Given the description of an element on the screen output the (x, y) to click on. 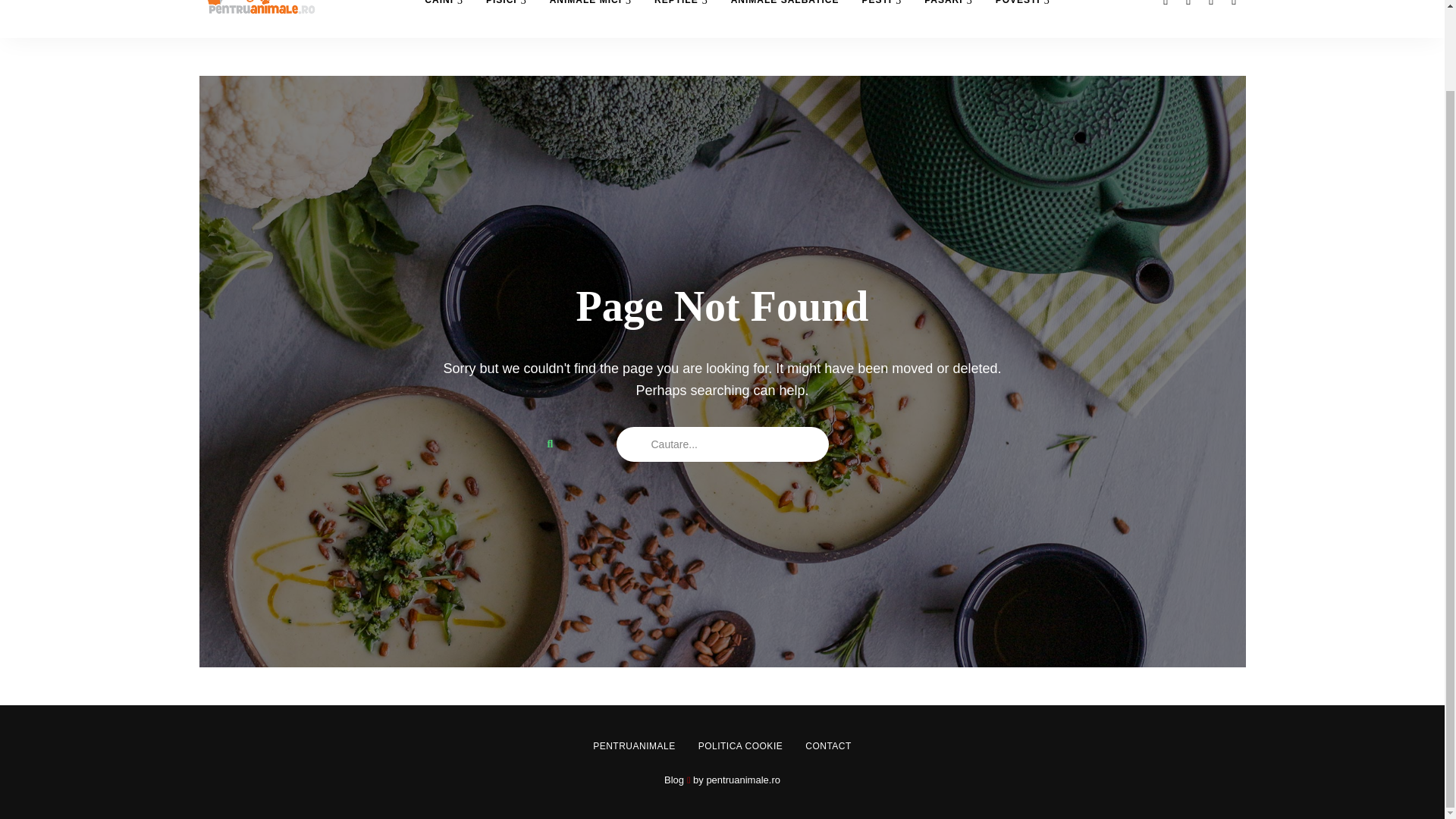
POVESTI (1022, 18)
ANIMALE MICI (590, 18)
PESTI (881, 18)
CAINI (443, 18)
REPTILE (681, 18)
ANIMALE SALBATICE (784, 18)
PISICI (506, 18)
PASARI (948, 18)
